Given the description of an element on the screen output the (x, y) to click on. 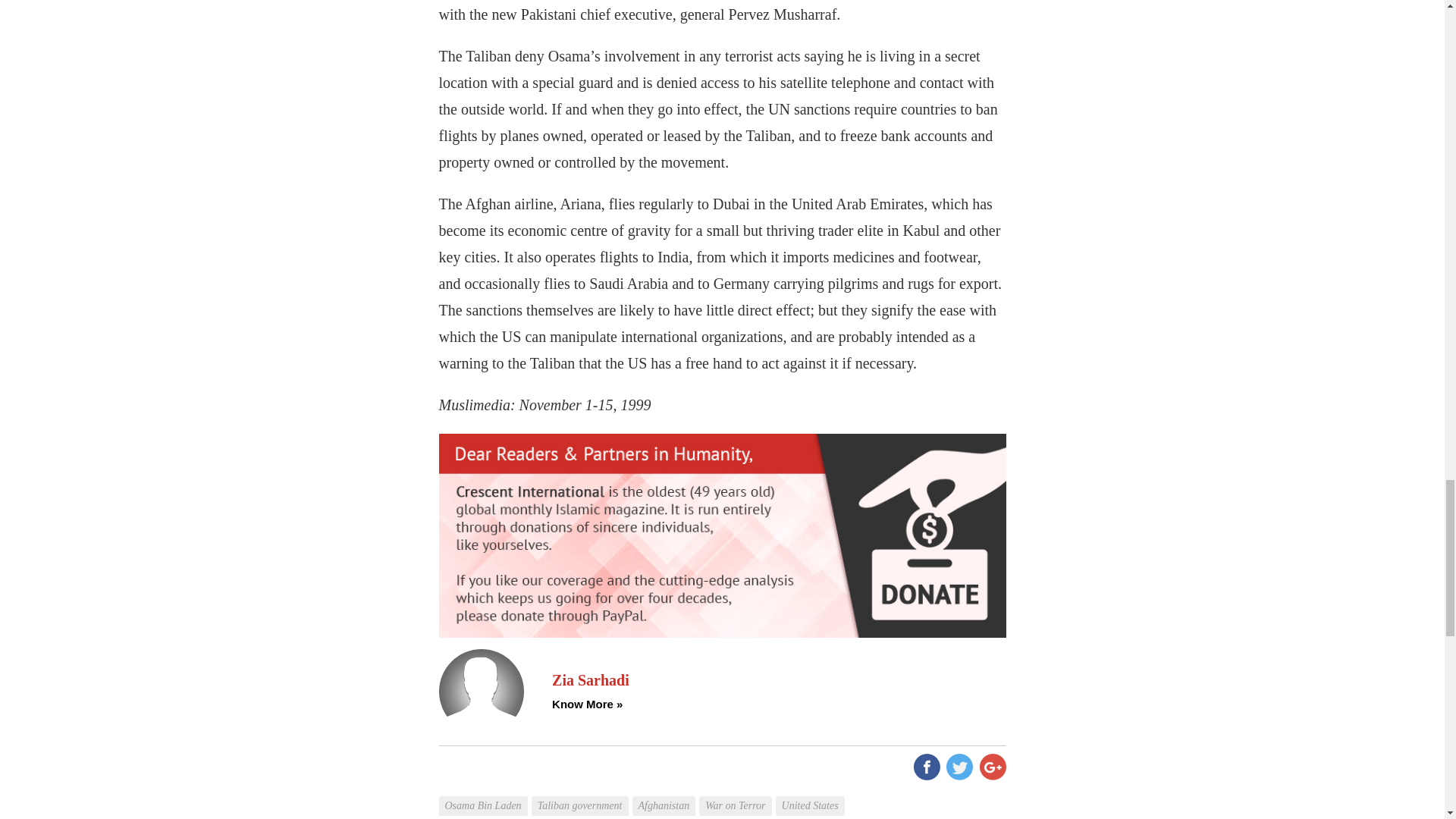
War on Terror (736, 794)
Taliban government (581, 794)
United States (812, 794)
Afghanistan (665, 794)
Zia Sarhadi (778, 680)
Osama Bin Laden (484, 794)
